Given the description of an element on the screen output the (x, y) to click on. 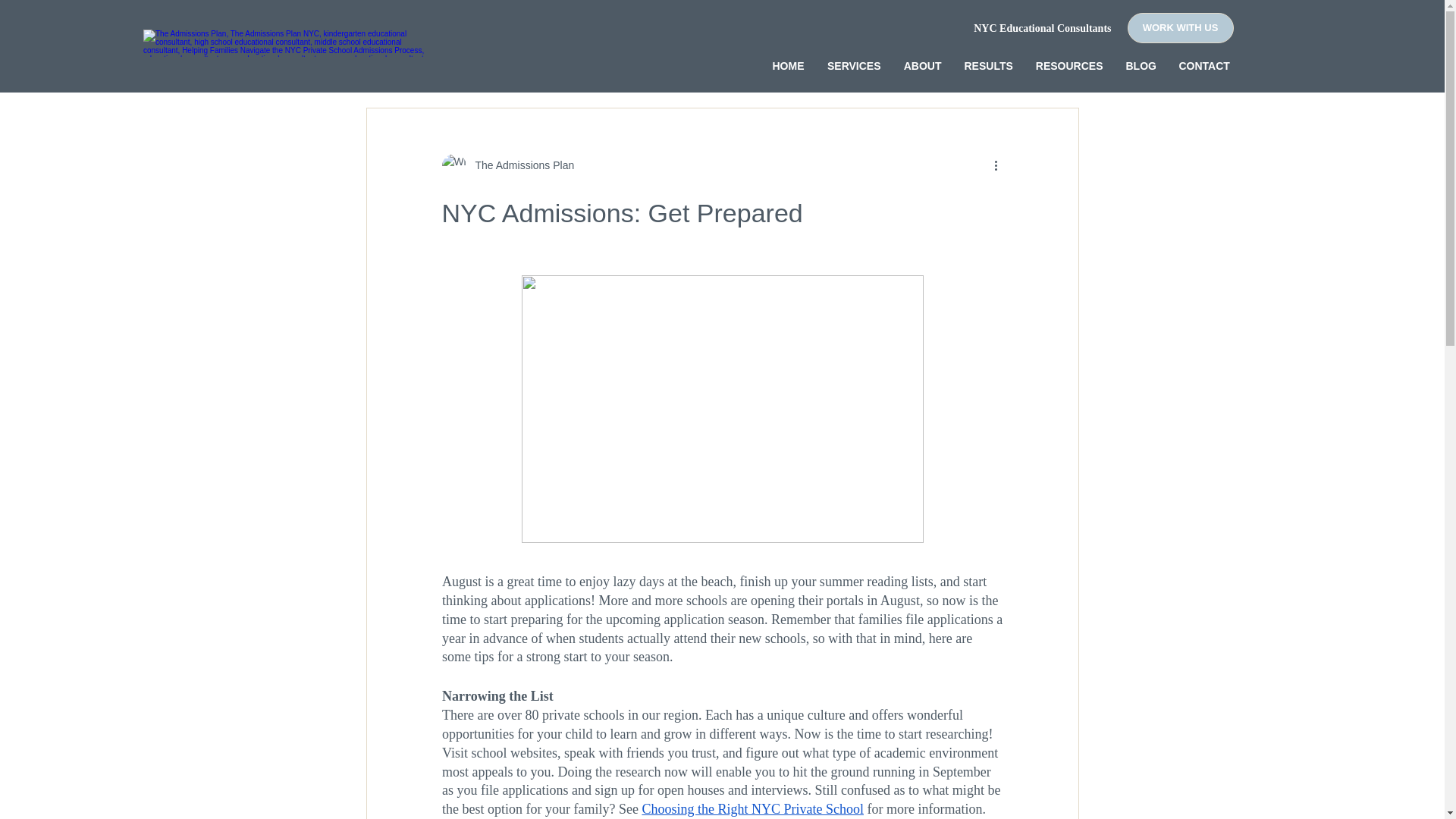
Choosing the Right NYC Private School (752, 808)
The Admissions Plan (507, 165)
HOME (788, 65)
WORK WITH US (1179, 28)
SERVICES (853, 65)
CONTACT (1204, 65)
The Admissions Plan (519, 165)
The Admissions Plan (287, 42)
BLOG (1141, 65)
